Given the description of an element on the screen output the (x, y) to click on. 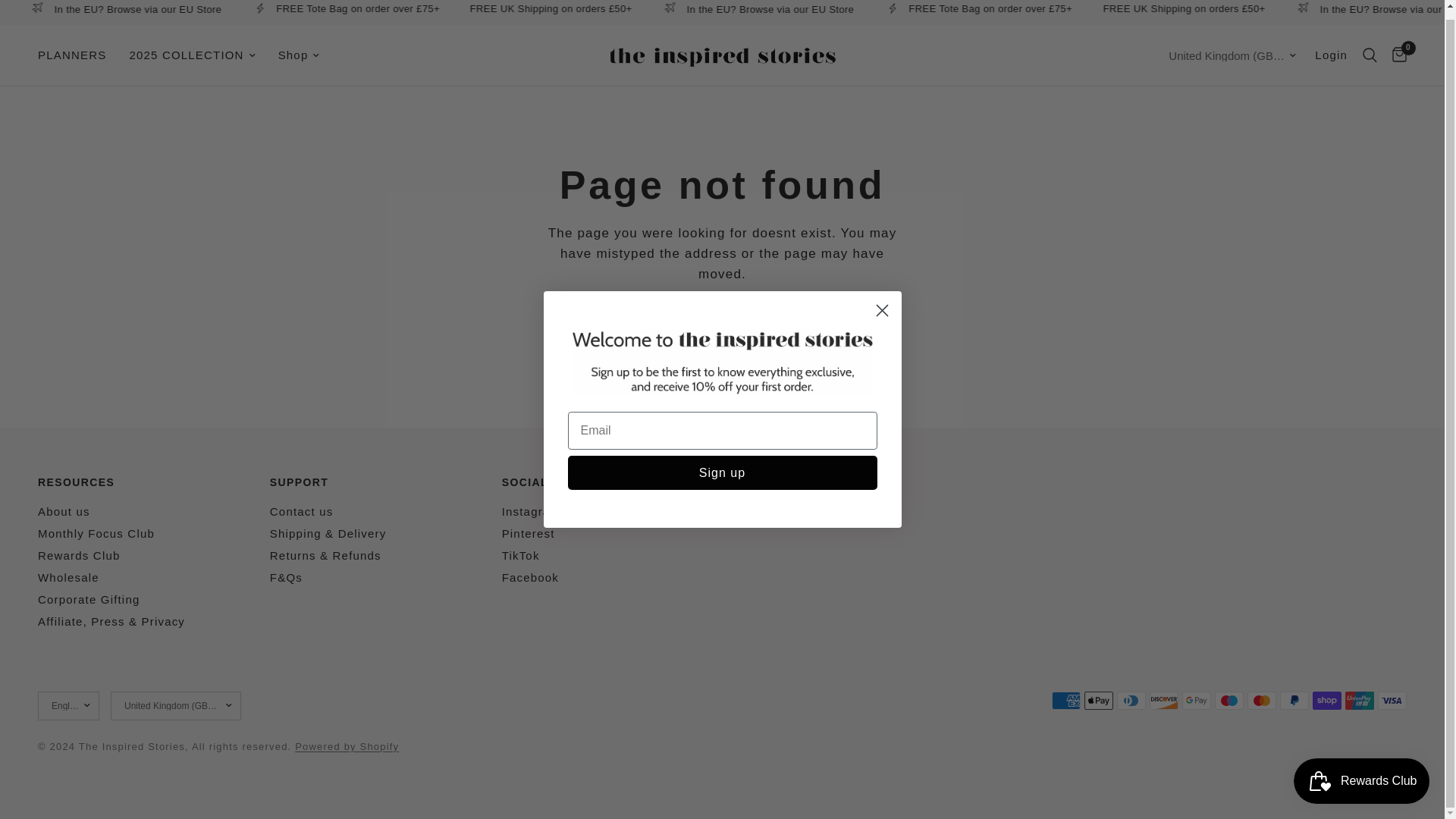
Monthly Focus Club (95, 533)
PLANNERS (71, 54)
Shop (299, 54)
In the EU? Browse via our EU Store (331, 8)
2025 COLLECTION (191, 54)
In the EU? Browse via our EU Store (963, 8)
About us (63, 511)
